Given the description of an element on the screen output the (x, y) to click on. 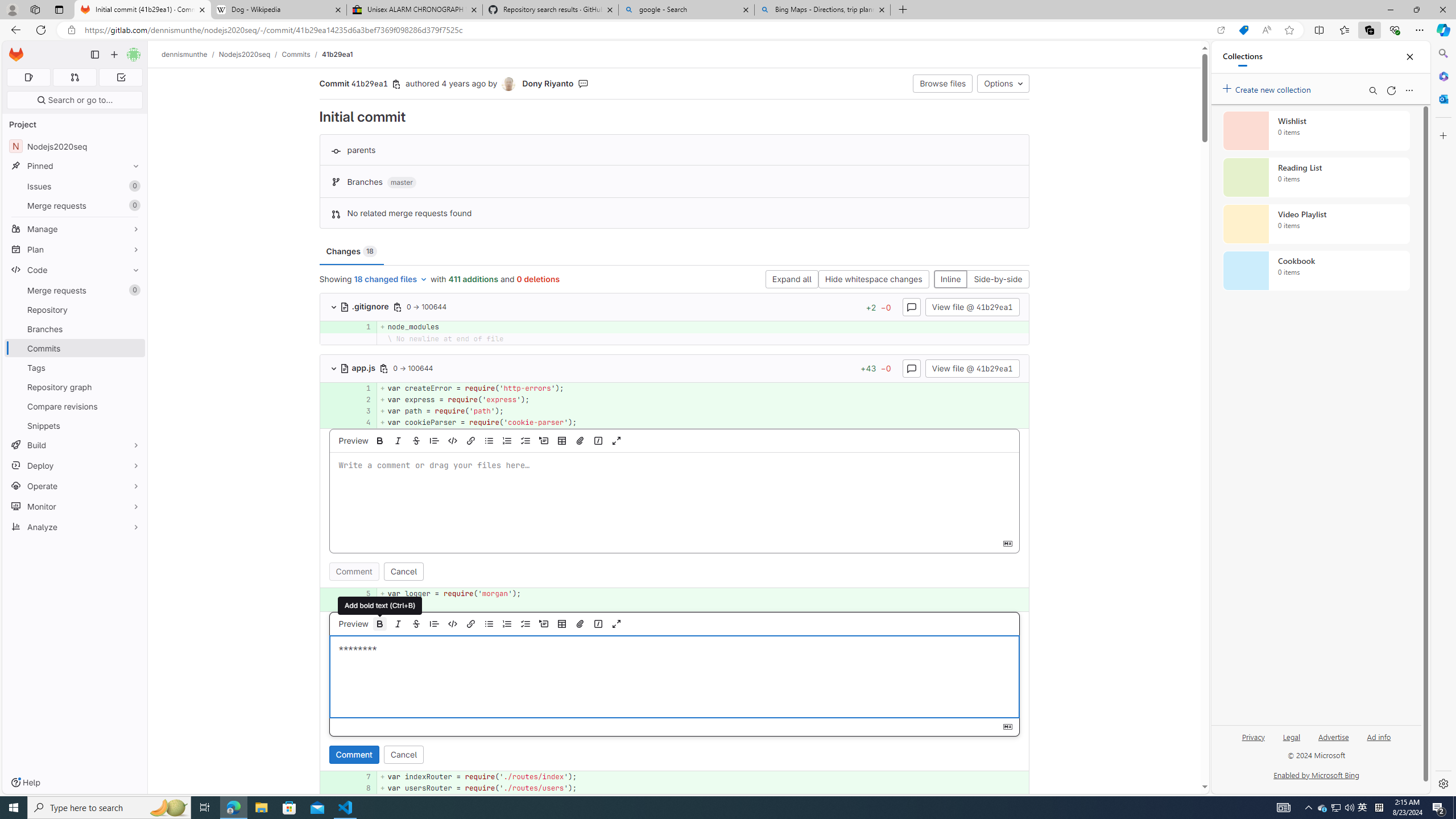
7 (360, 776)
More options menu (1409, 90)
Monitor (74, 506)
Privacy (1252, 741)
Copilot (Ctrl+Shift+.) (1442, 29)
41b29ea1 (337, 53)
Commits (295, 53)
Advertise (1333, 741)
Manage (74, 228)
Browse files (942, 83)
AutomationID: 4a68969ef8e858229267b842dedf42ab5dde4d50_0_1 (674, 387)
Toggle comments for this file (911, 367)
Ad info (1378, 741)
